Given the description of an element on the screen output the (x, y) to click on. 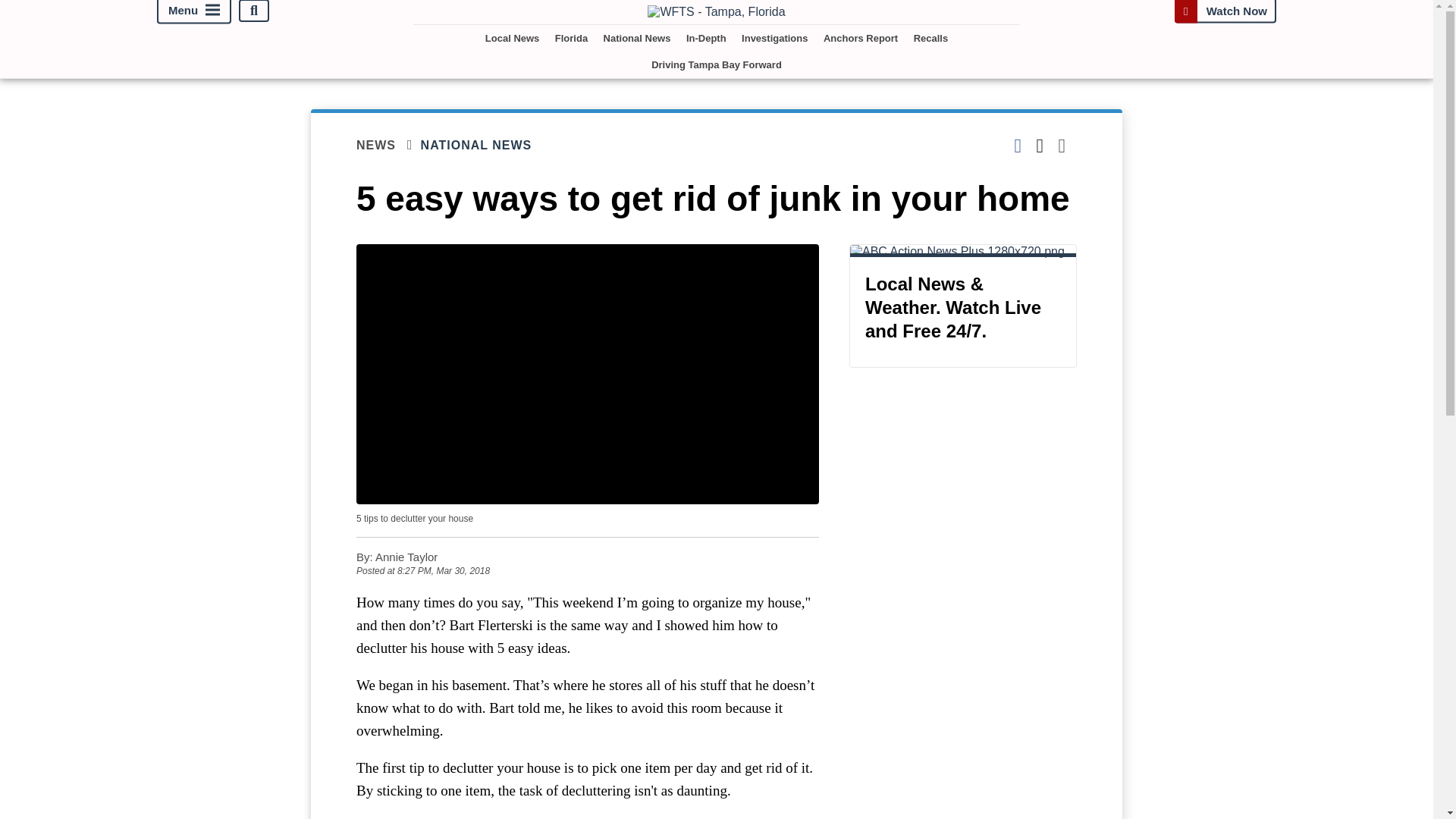
Menu (194, 11)
Watch Now (1224, 10)
